Given the description of an element on the screen output the (x, y) to click on. 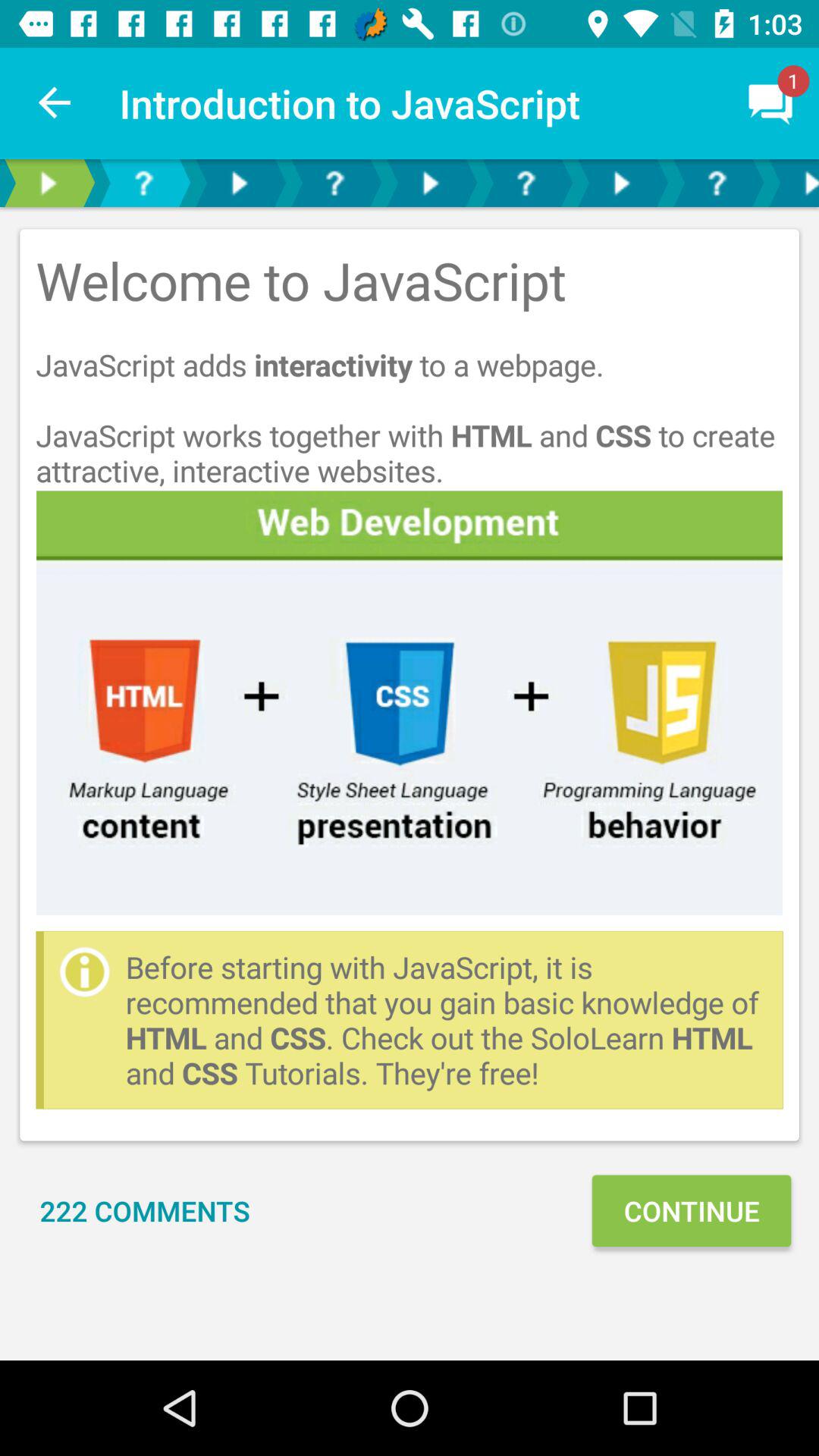
more options (238, 183)
